Given the description of an element on the screen output the (x, y) to click on. 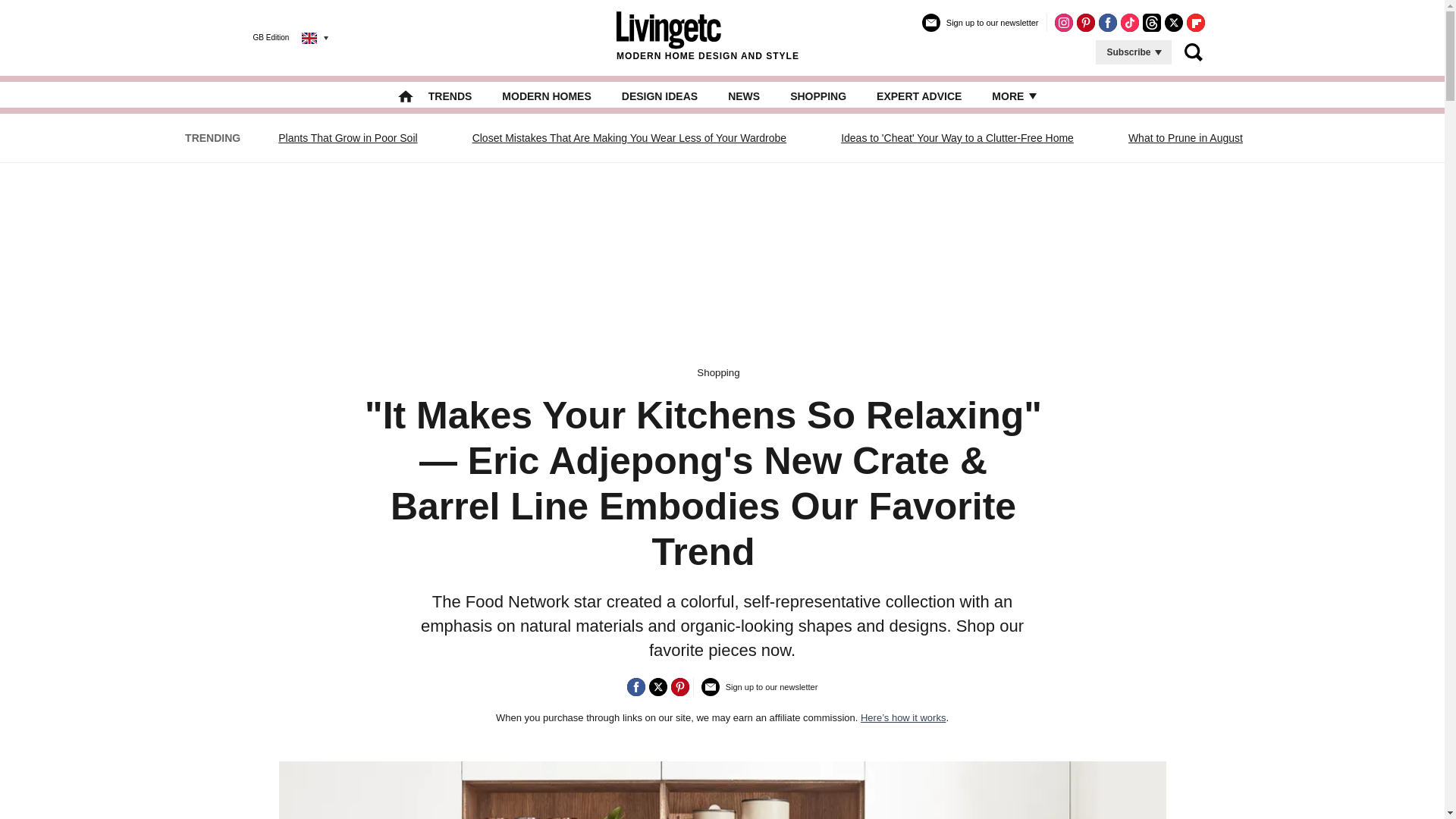
DESIGN IDEAS (659, 96)
MODERN HOMES (546, 96)
SHOPPING (817, 96)
MODERN HOME DESIGN AND STYLE (707, 37)
Plants That Grow in Poor Soil (347, 137)
Sign up to our newsletter (980, 28)
NEWS (744, 96)
EXPERT ADVICE (918, 96)
TRENDS (449, 96)
